Given the description of an element on the screen output the (x, y) to click on. 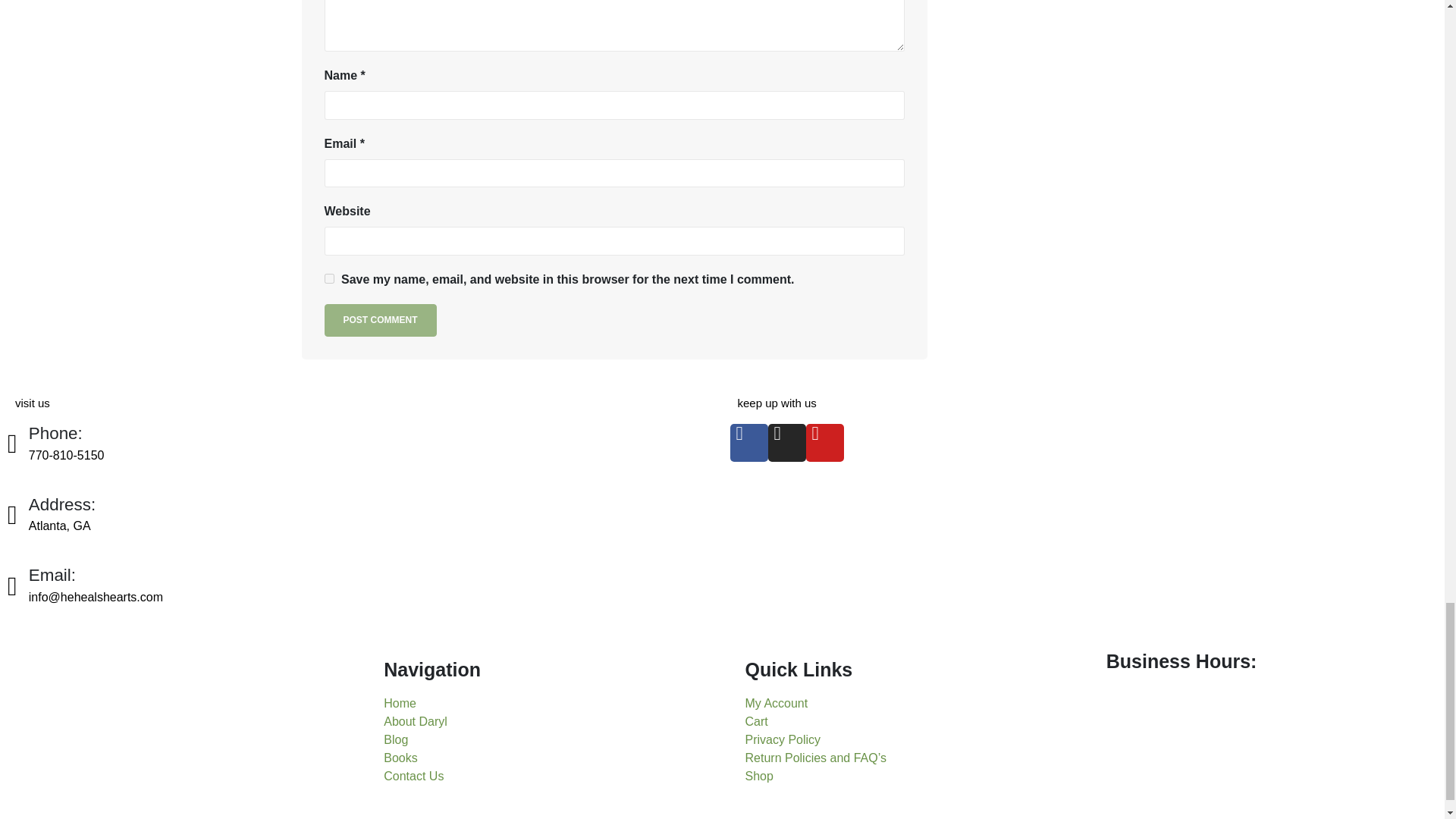
Post Comment (380, 319)
Post Comment (380, 319)
yes (329, 277)
